Given the description of an element on the screen output the (x, y) to click on. 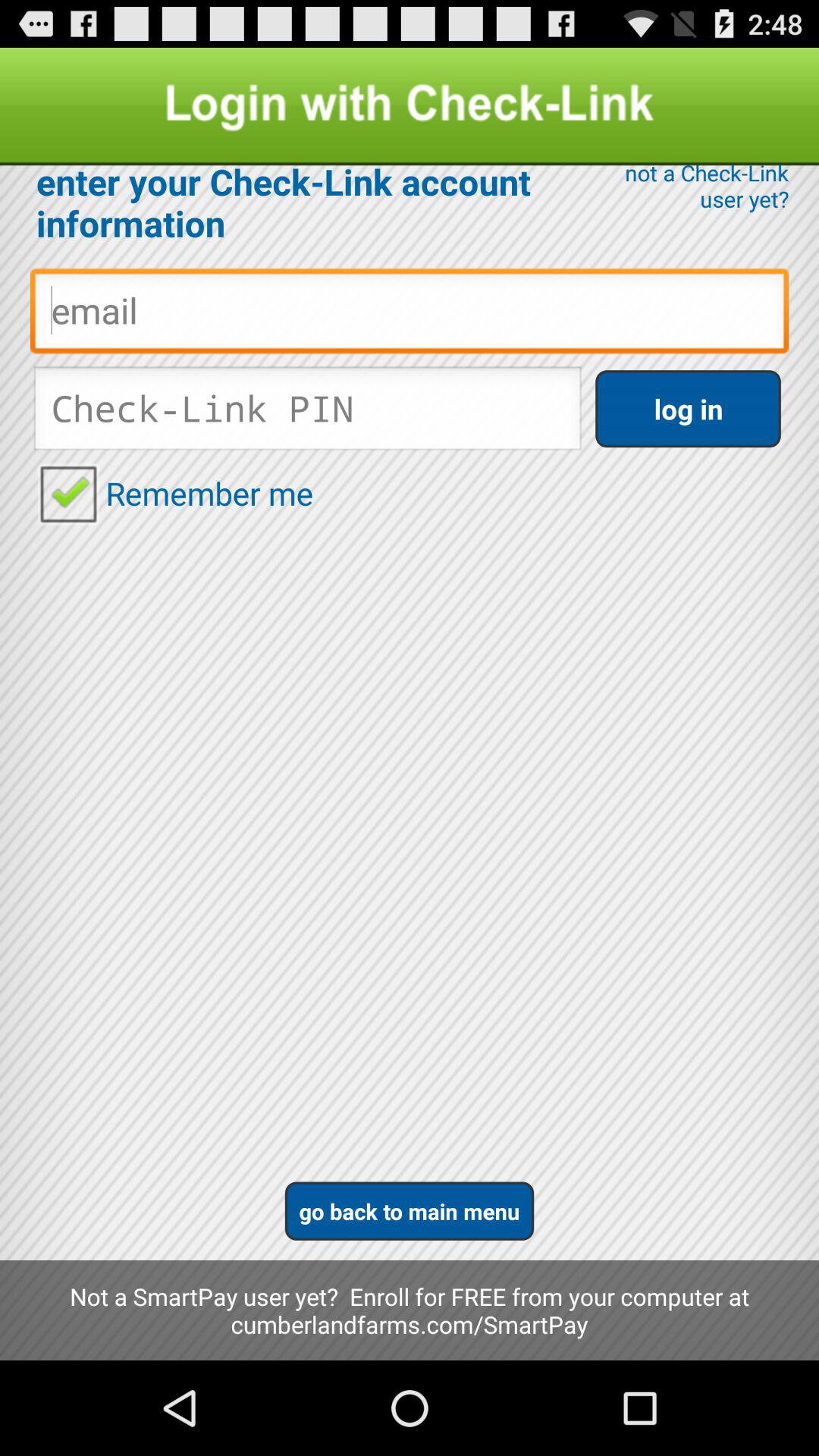
put email (409, 314)
